Given the description of an element on the screen output the (x, y) to click on. 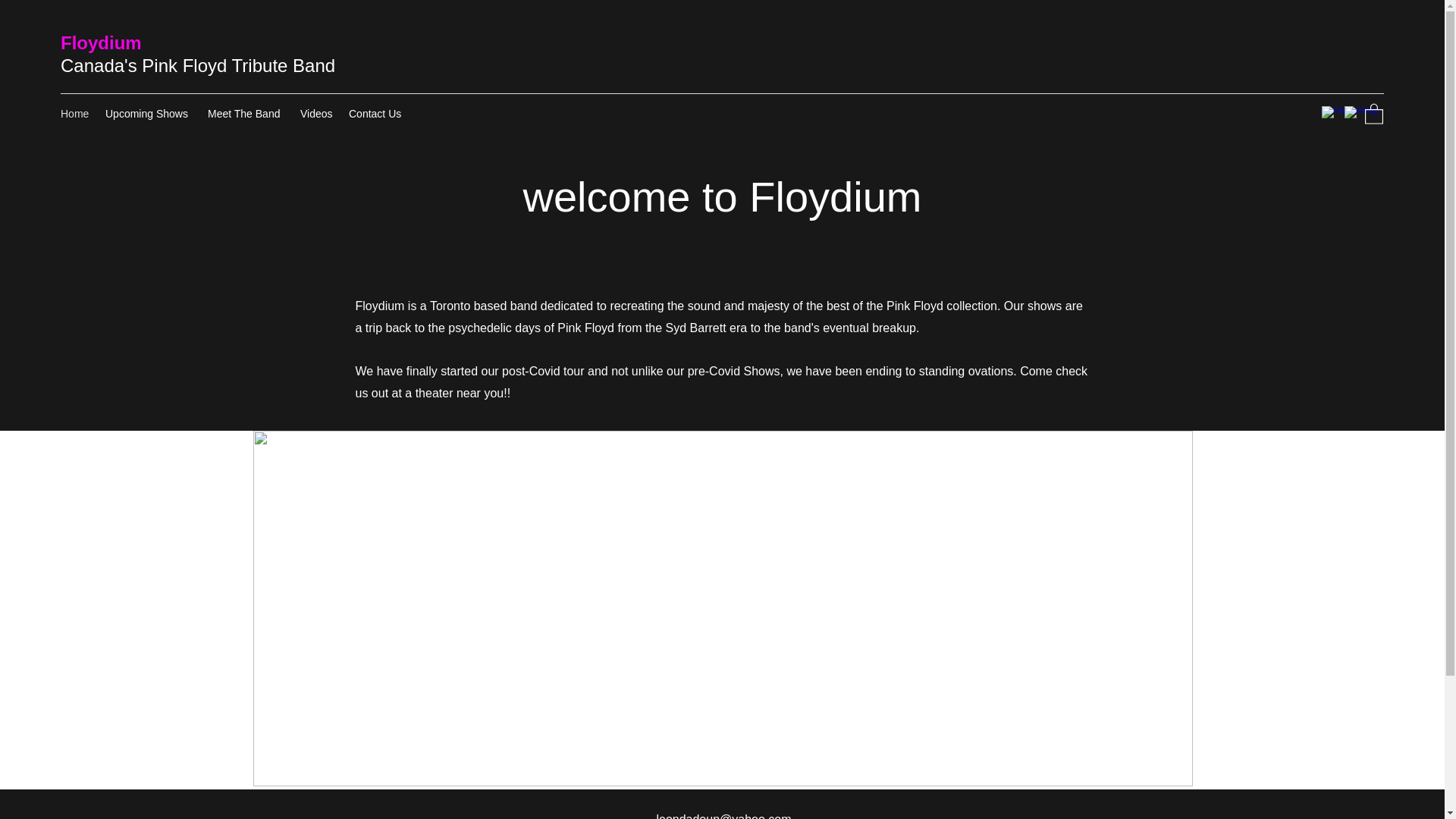
Upcoming Shows (148, 113)
Home (74, 113)
Videos (316, 113)
Meet The Band (246, 113)
Contact Us (375, 113)
